Given the description of an element on the screen output the (x, y) to click on. 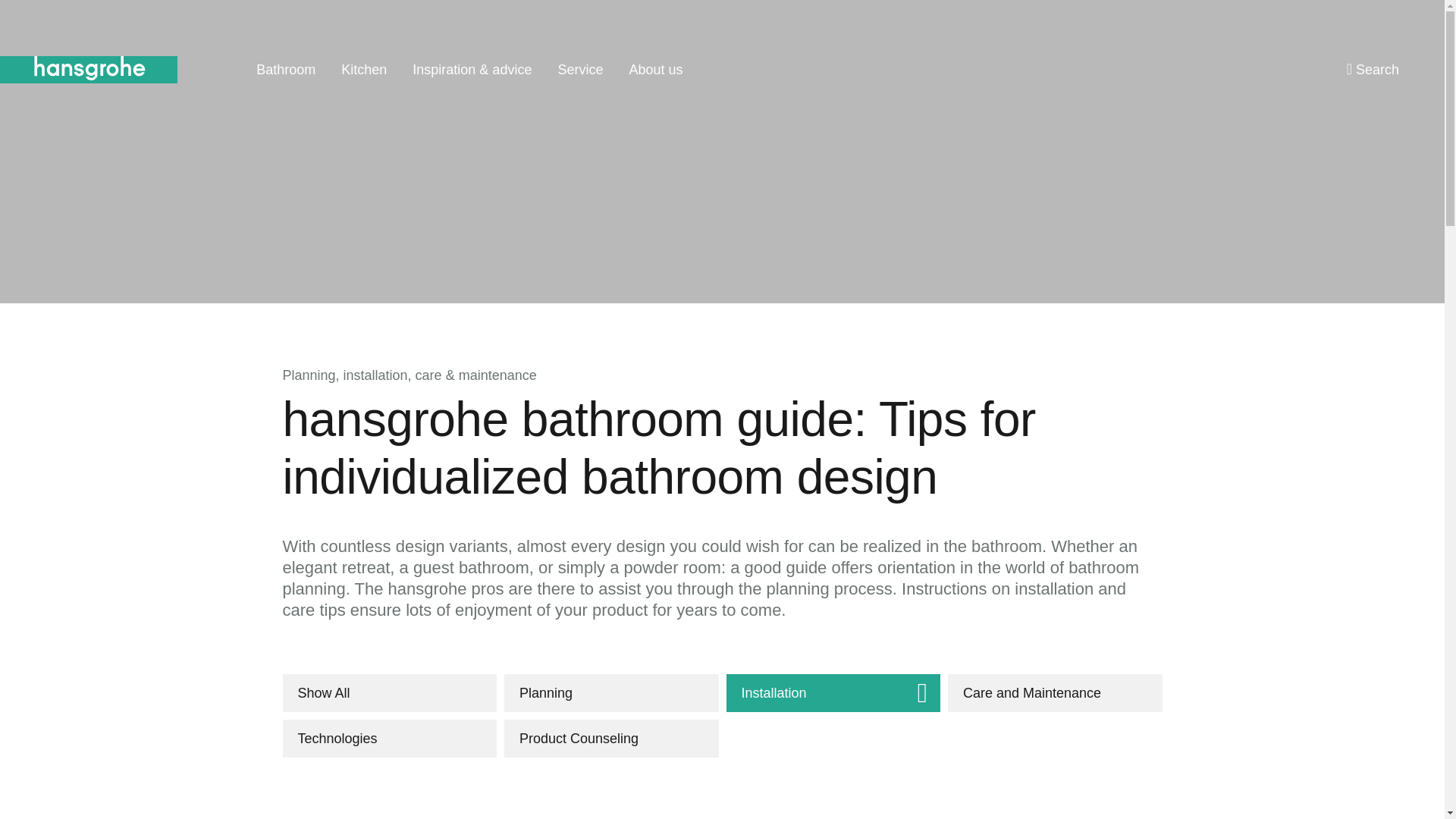
Bathroom (285, 69)
Service (579, 69)
Kitchen (363, 69)
hansgrohe logo (88, 69)
About us (655, 69)
